Given the description of an element on the screen output the (x, y) to click on. 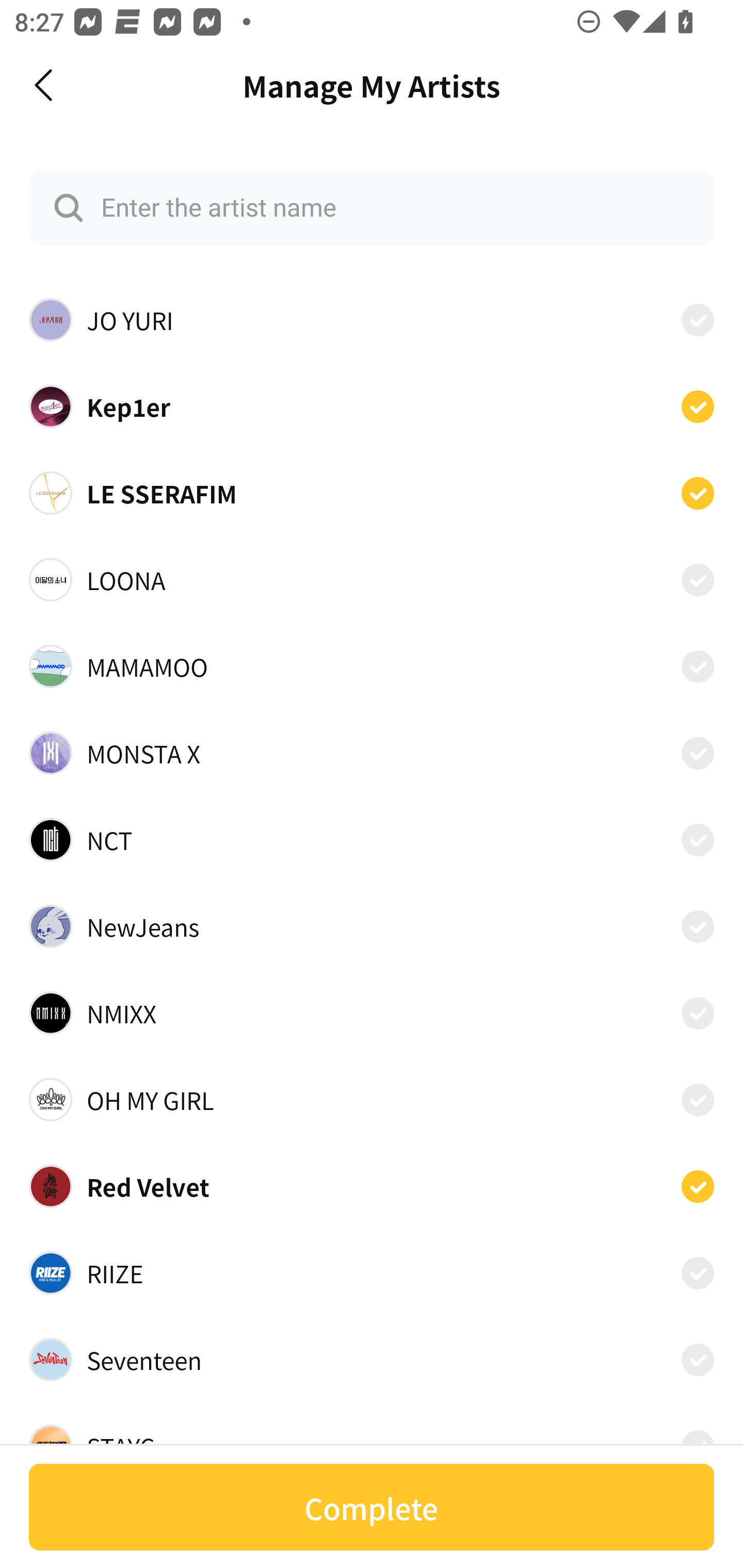
Enter the artist name (371, 207)
JO YURI (371, 319)
Kep1er (371, 406)
LE SSERAFIM (371, 492)
LOONA (371, 580)
MAMAMOO (371, 666)
MONSTA X (371, 752)
NCT (371, 839)
NewJeans (371, 926)
NMIXX (371, 1012)
OH MY GIRL (371, 1099)
Red Velvet (371, 1186)
RIIZE (371, 1273)
Seventeen (371, 1359)
Complete (371, 1507)
